Given the description of an element on the screen output the (x, y) to click on. 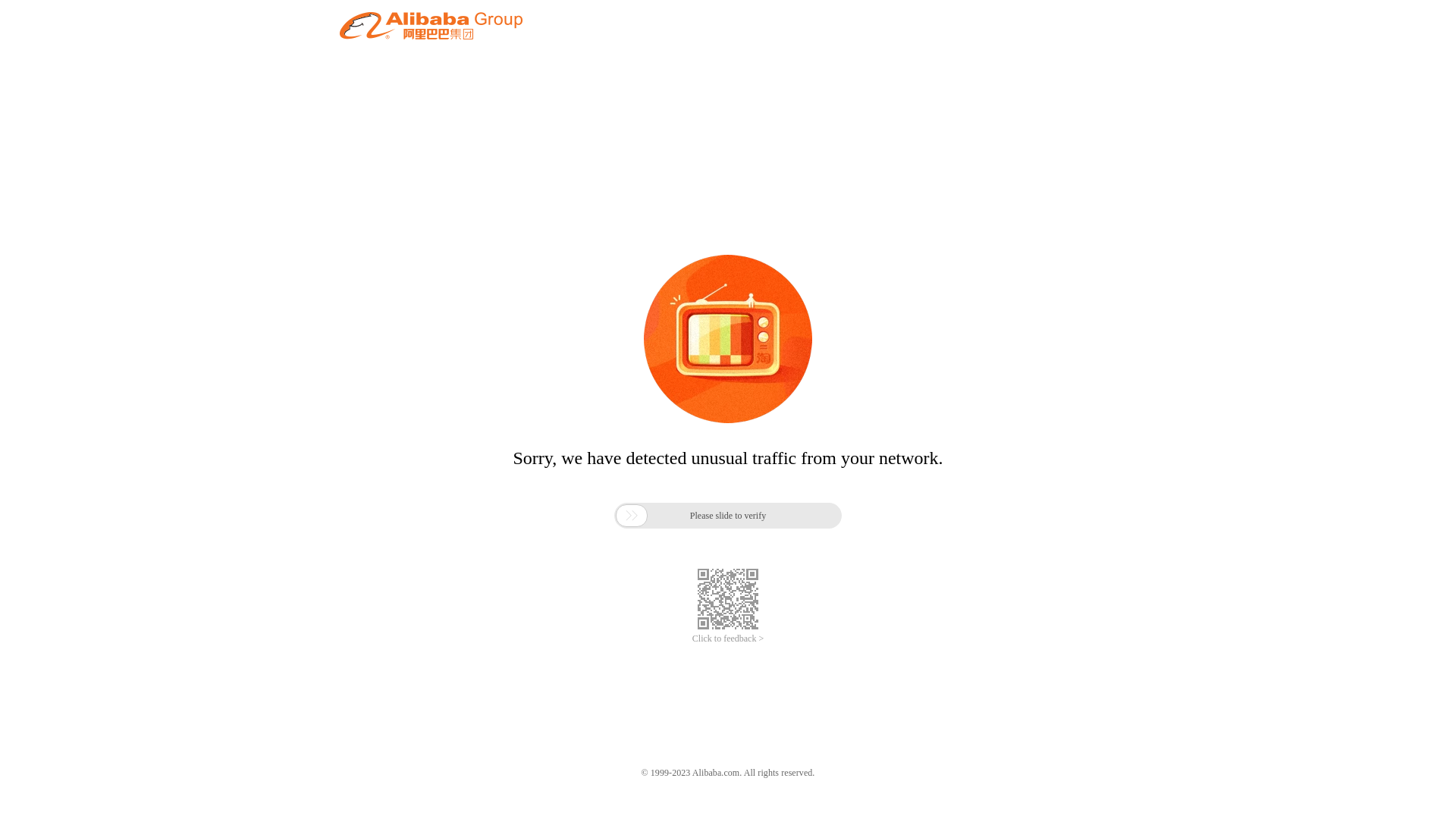
Click to feedback > Element type: text (727, 638)
